Given the description of an element on the screen output the (x, y) to click on. 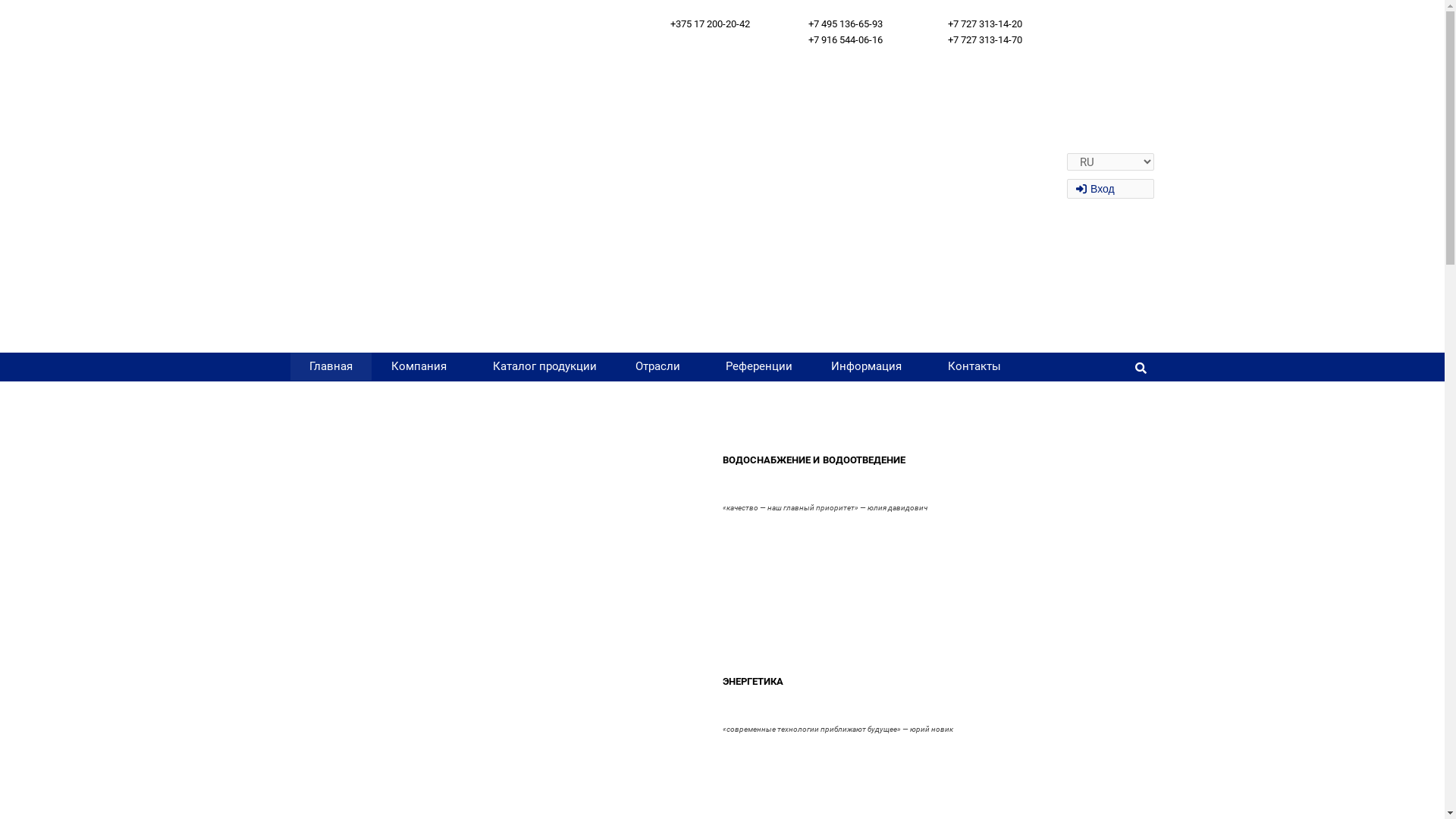
+375 17 200-20-42 Element type: text (709, 23)
+7 727 313-14-20 Element type: text (984, 23)
+7 727 313-14-70 Element type: text (984, 39)
+7 495 136-65-93 Element type: text (845, 23)
+7 916 544-06-16 Element type: text (845, 39)
